Given the description of an element on the screen output the (x, y) to click on. 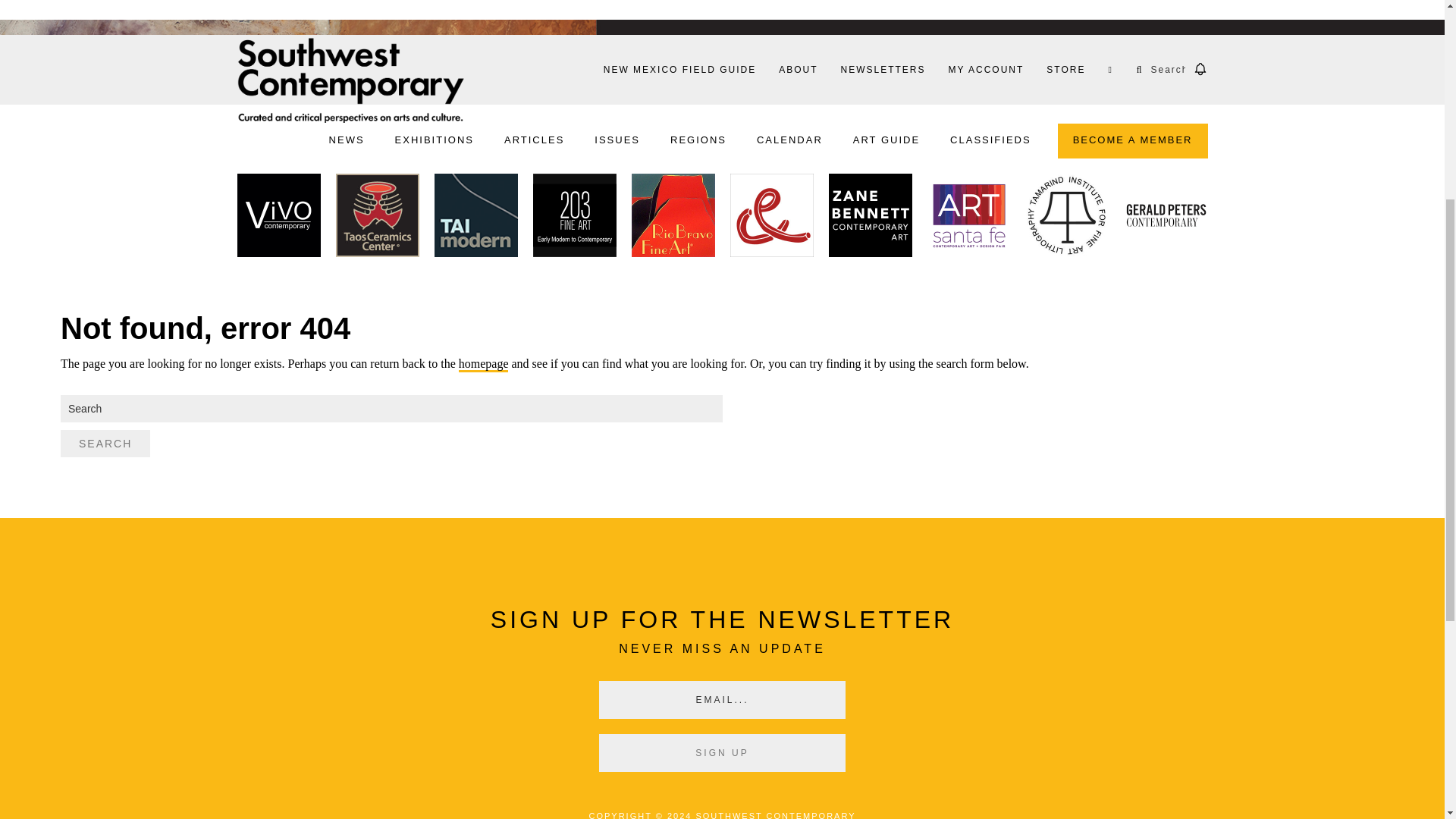
Zane Bennett: logo tile (869, 217)
NEWSLETTERS (882, 69)
ISSUES (617, 141)
MY ACCOUNT (986, 69)
ABOUT (797, 69)
NEW MEXICO FIELD GUIDE (679, 69)
Tamarind Institute Logo (1066, 217)
Southwest Contemporary (349, 79)
ARTICLES (533, 141)
203 Fine Art Logo (573, 217)
Gerald Peters Contemporary Logo (1165, 217)
Art Santa Fe  (968, 217)
Search (105, 443)
STORE (1065, 69)
Taos Ceramics Center Logo (376, 217)
